Given the description of an element on the screen output the (x, y) to click on. 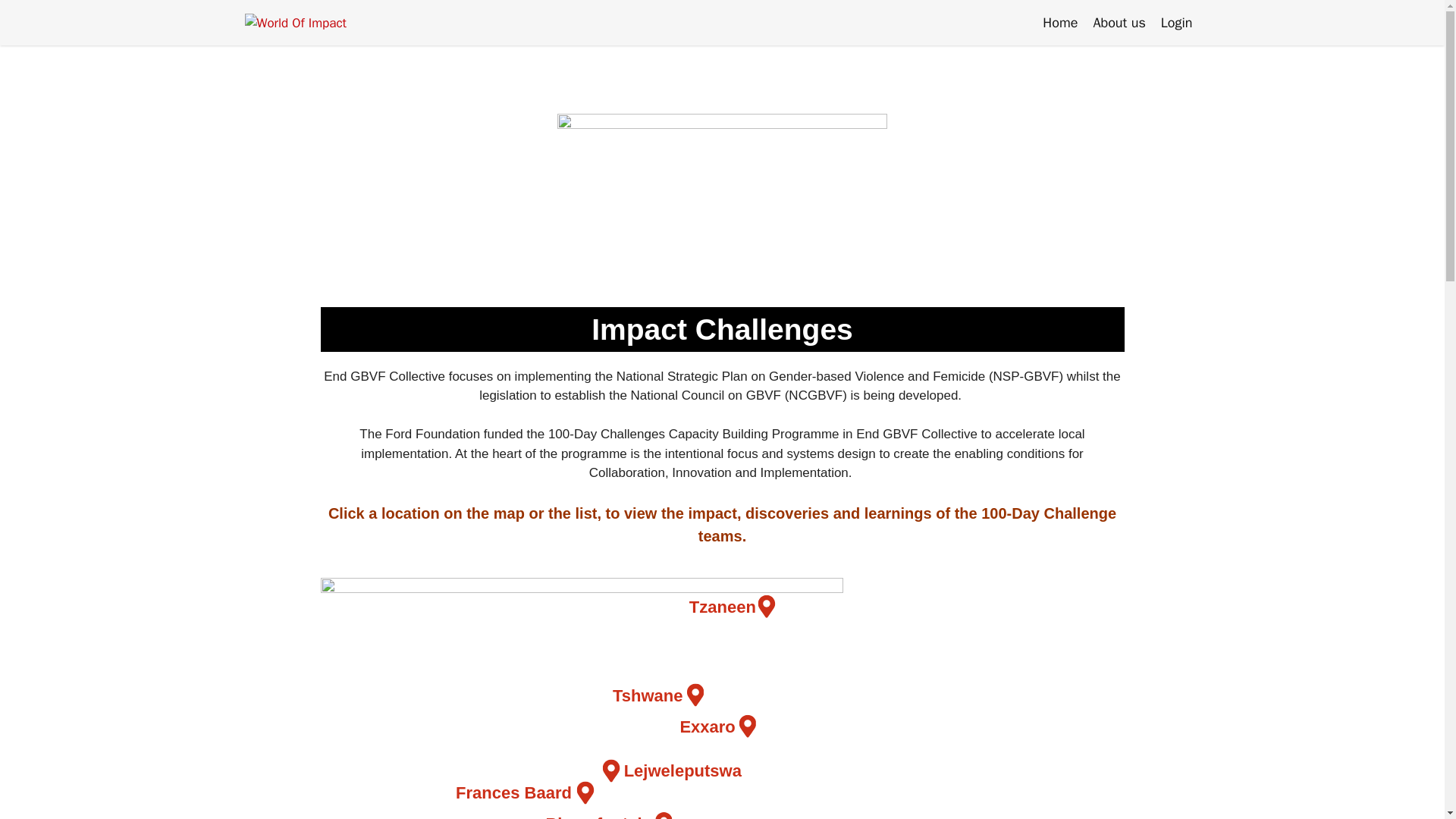
Exxaro (717, 726)
About us (1118, 22)
Login (1176, 22)
Home (1059, 22)
Tzaneen (731, 606)
Tshwane (658, 695)
Frances Baard (524, 792)
Bloemfontein (608, 811)
Lejweleputswa (671, 770)
